Given the description of an element on the screen output the (x, y) to click on. 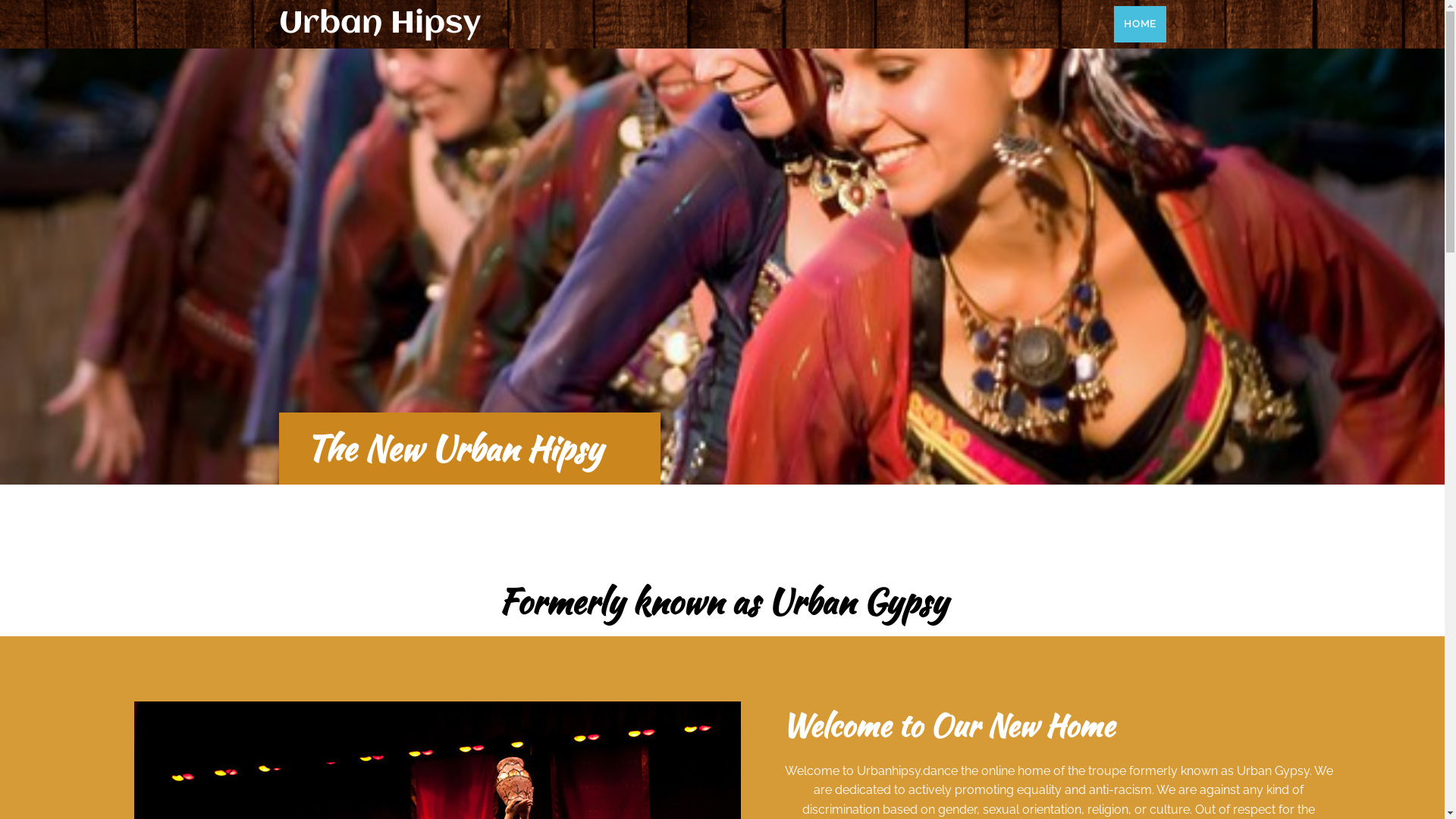
HOME Element type: text (1139, 24)
Urban Hipsy Element type: text (500, 24)
